Given the description of an element on the screen output the (x, y) to click on. 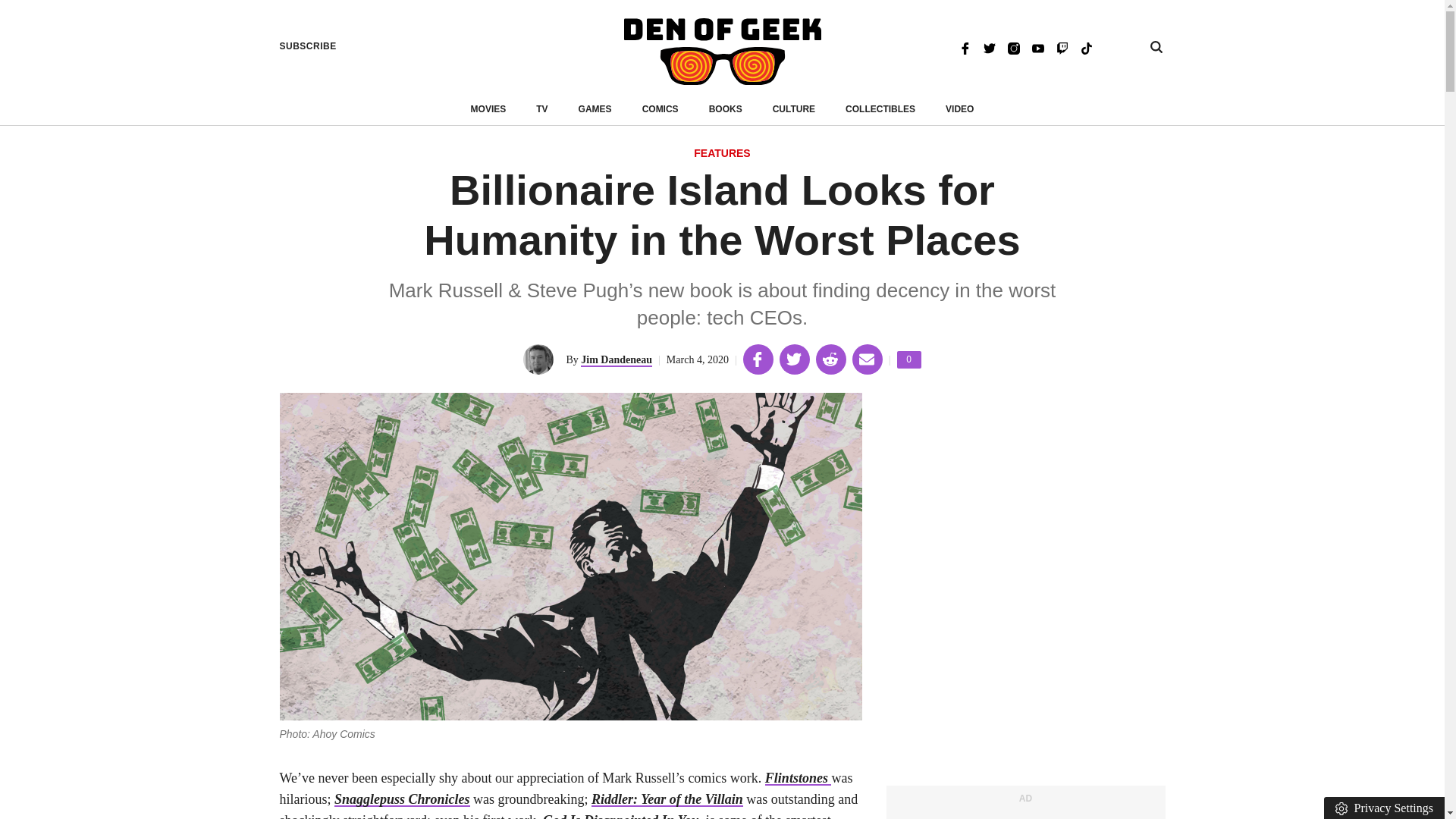
COLLECTIBLES (880, 109)
Snagglepuss Chronicles (402, 798)
TikTok (1085, 46)
Den of Geek (722, 52)
COMICS (660, 109)
MOVIES (488, 109)
Flintstones (798, 777)
Jim Dandeneau (908, 359)
GAMES (616, 359)
CULTURE (594, 109)
SUBSCRIBE (794, 109)
FEATURES (307, 46)
Instagram (721, 153)
Twitter (1013, 46)
